Given the description of an element on the screen output the (x, y) to click on. 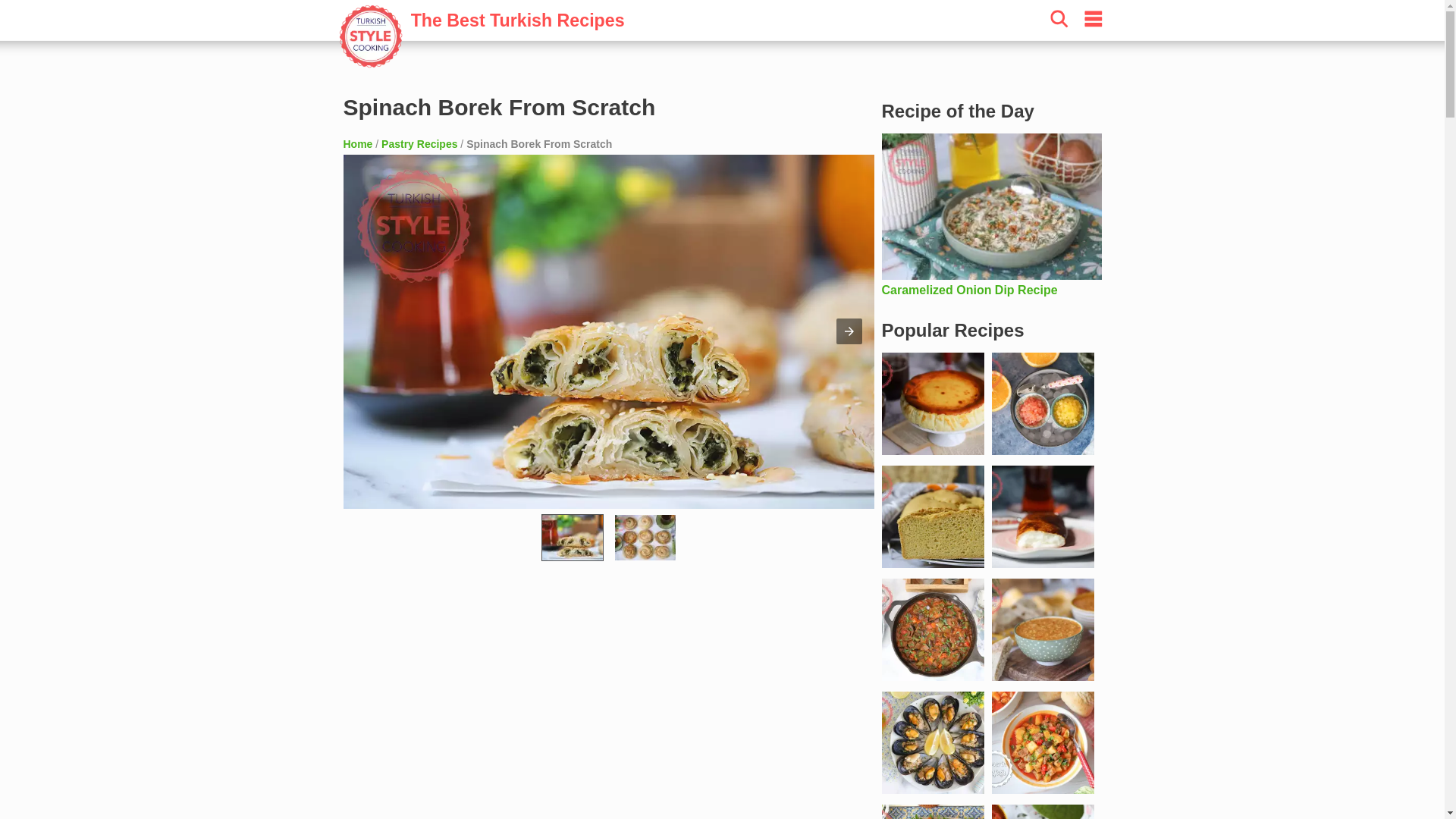
3rd party ad content (607, 694)
Pastry Recipes (419, 143)
Ezogelin Soup Recipe (1042, 629)
Kazandibi Dessert Recipe (1042, 517)
Chicken and Rice Soup Recipe (1042, 811)
Liver Stew Recipe (932, 629)
Home (357, 143)
Gluten Free Chickpea Flour Bread Recipe (932, 517)
Fruit Caviar Recipe (1042, 403)
Traditional Turkish Stew Recipe (1042, 742)
Midye Dolma Recipe (932, 742)
San Sebastian Cheesecake Recipe (932, 403)
The Best Turkish Recipes (436, 55)
